Given the description of an element on the screen output the (x, y) to click on. 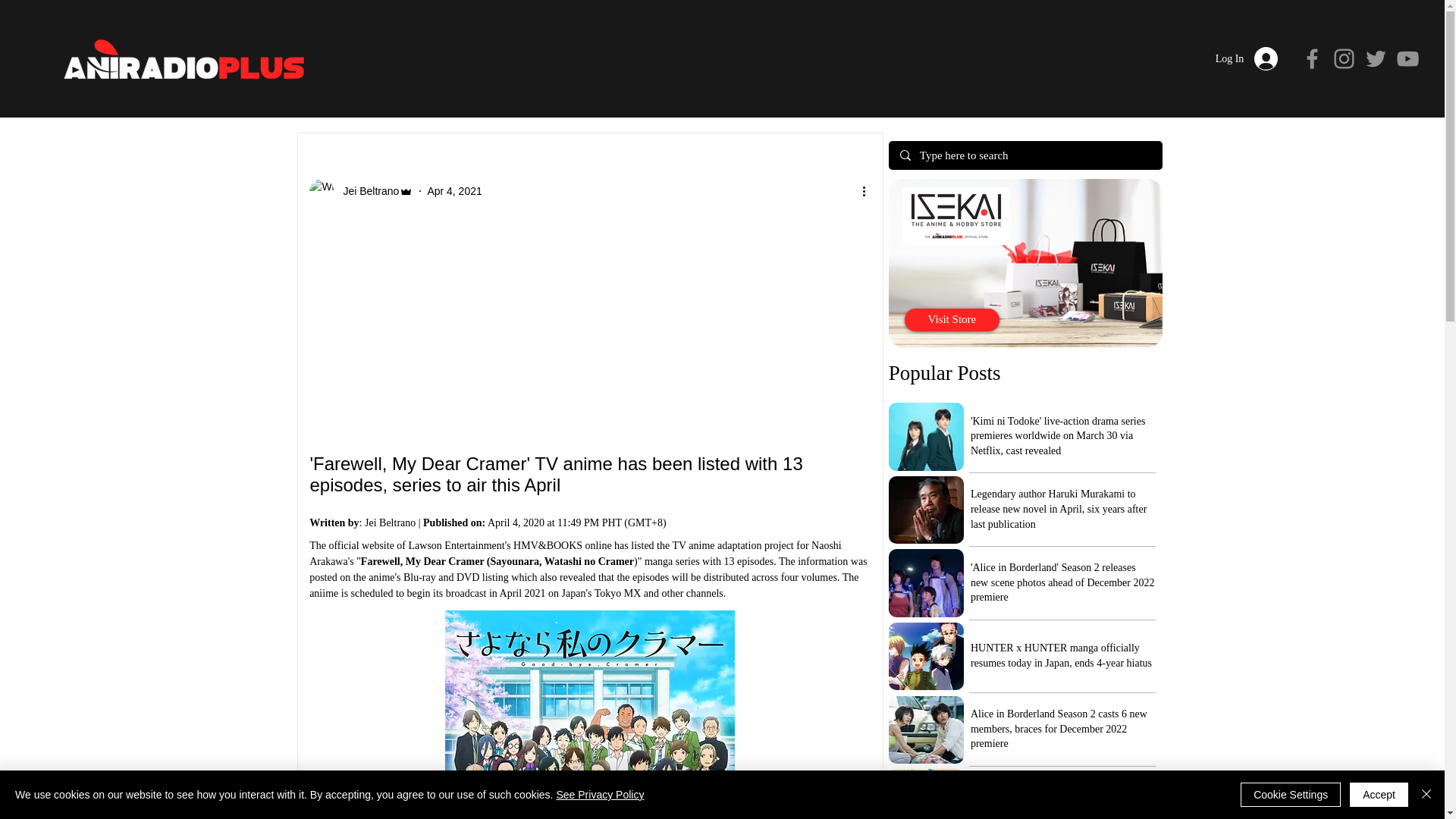
Jei Beltrano (365, 191)
Log In (1246, 58)
Advertisement (589, 329)
Jei Beltrano (360, 191)
Apr 4, 2021 (453, 191)
